Given the description of an element on the screen output the (x, y) to click on. 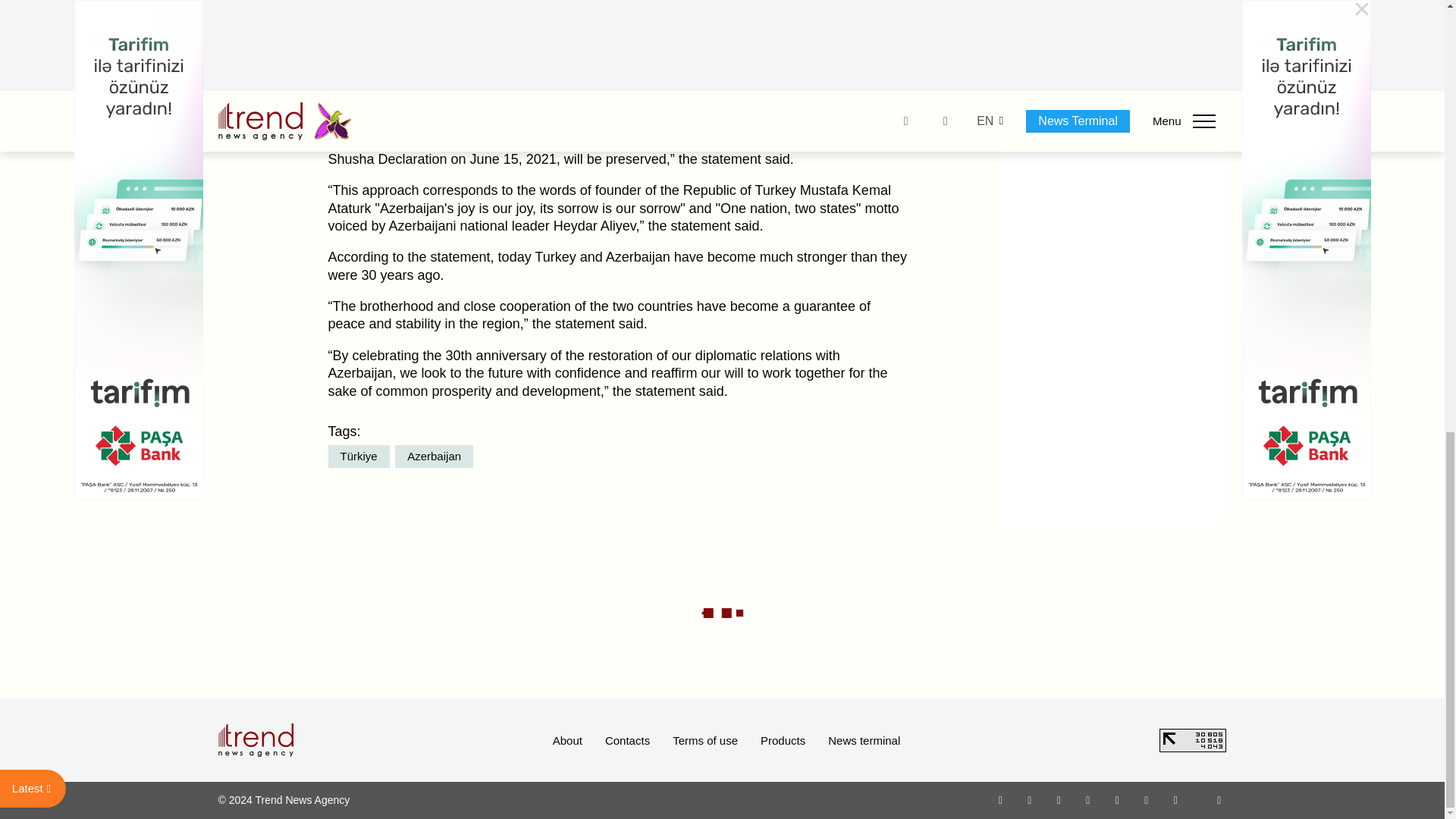
Android App (1176, 799)
Telegram (1117, 799)
RSS Feed (1219, 799)
Twitter (1059, 799)
Youtube (1088, 799)
Whatsapp (1000, 799)
LinkedIn (1146, 799)
Facebook (1029, 799)
